Given the description of an element on the screen output the (x, y) to click on. 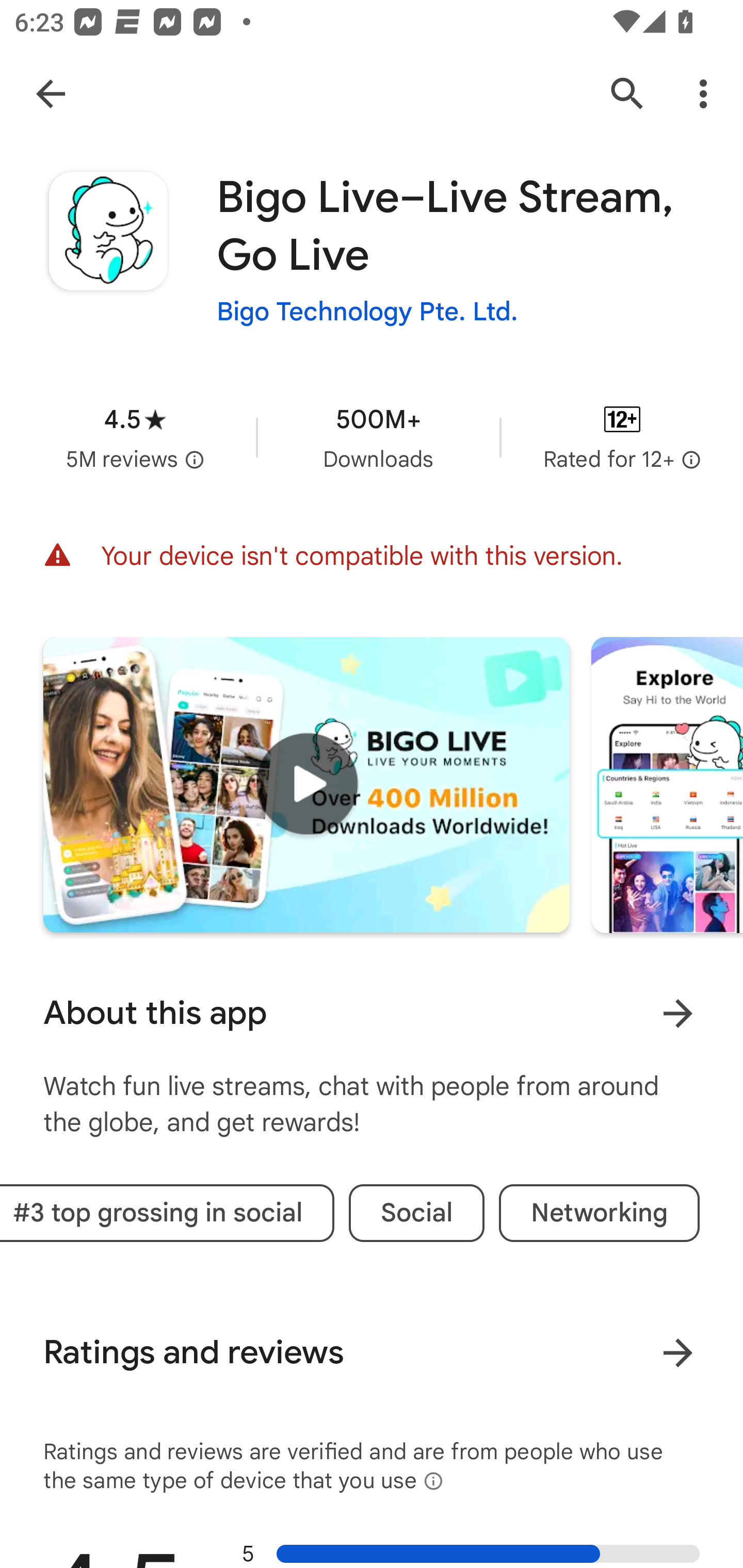
Navigate up (50, 92)
Search Google Play (626, 93)
More options (706, 93)
Bigo Technology Pte. Ltd. (367, 310)
Content rating Rated for 12+ Rated for 12+   (622, 437)
Play trailer for "Bigo Live–Live Stream, Go Live" (306, 784)
Screenshot "1" of "8" (667, 784)
About this app
 More results for About this app (371, 1012)
More results for About this app (677, 1013)
Social Social tag (416, 1212)
Networking Networking tag (599, 1212)
More (677, 1353)
